Given the description of an element on the screen output the (x, y) to click on. 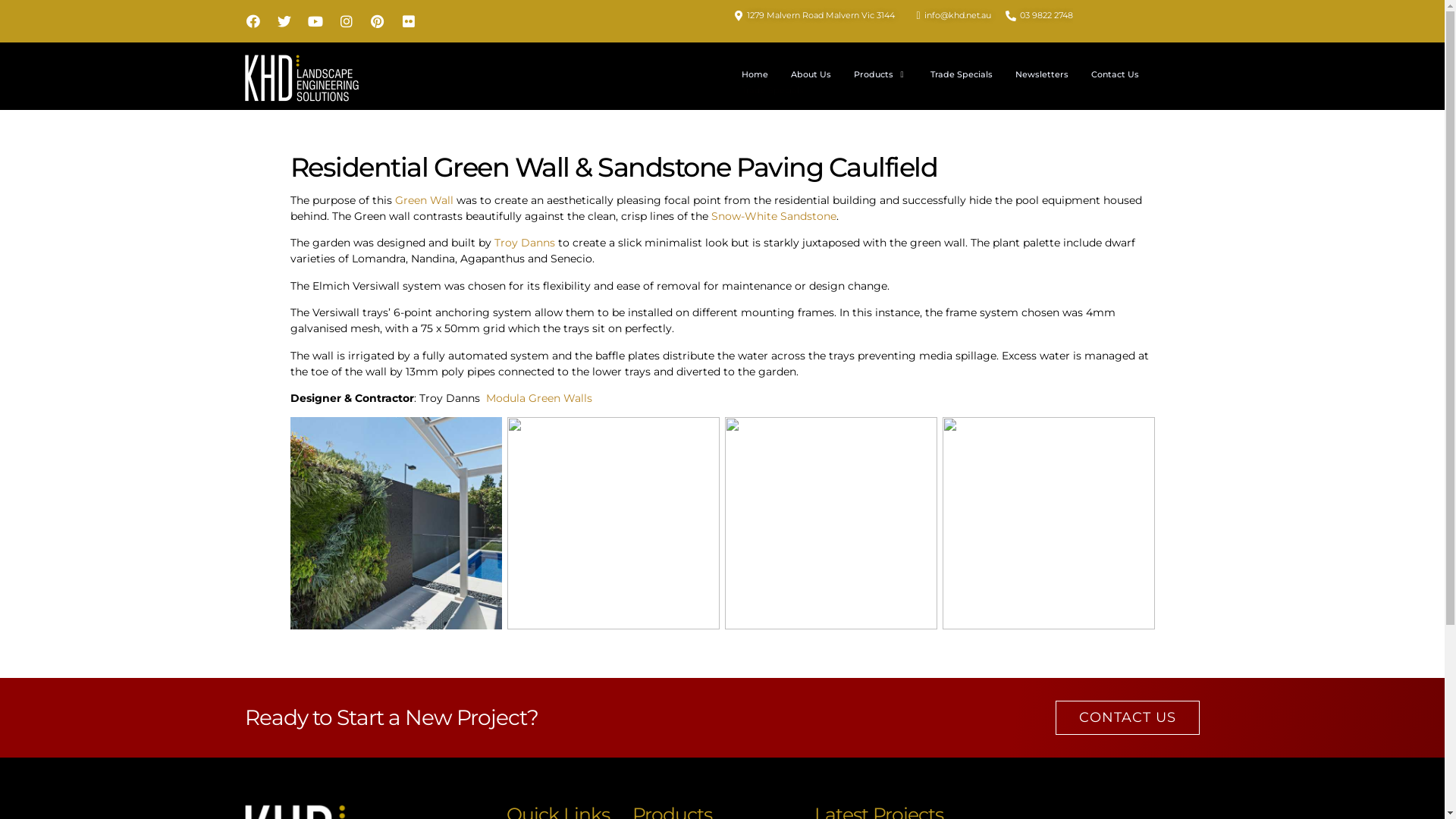
About Us Element type: text (810, 74)
Troy Danns Element type: text (524, 242)
Modula Green Walls Element type: text (538, 397)
CONTACT US Element type: text (1127, 717)
Green Wall Element type: text (423, 200)
info@khd.net.au Element type: text (948, 15)
Snow-White Sandstone Element type: text (773, 215)
Products Element type: text (879, 74)
Trade Specials Element type: text (771, 90)
03 9822 2748 Element type: text (1037, 15)
Home Element type: text (753, 74)
Trade Specials Element type: text (961, 74)
Contact Us Element type: text (1114, 74)
Newsletters Element type: text (1041, 74)
